Given the description of an element on the screen output the (x, y) to click on. 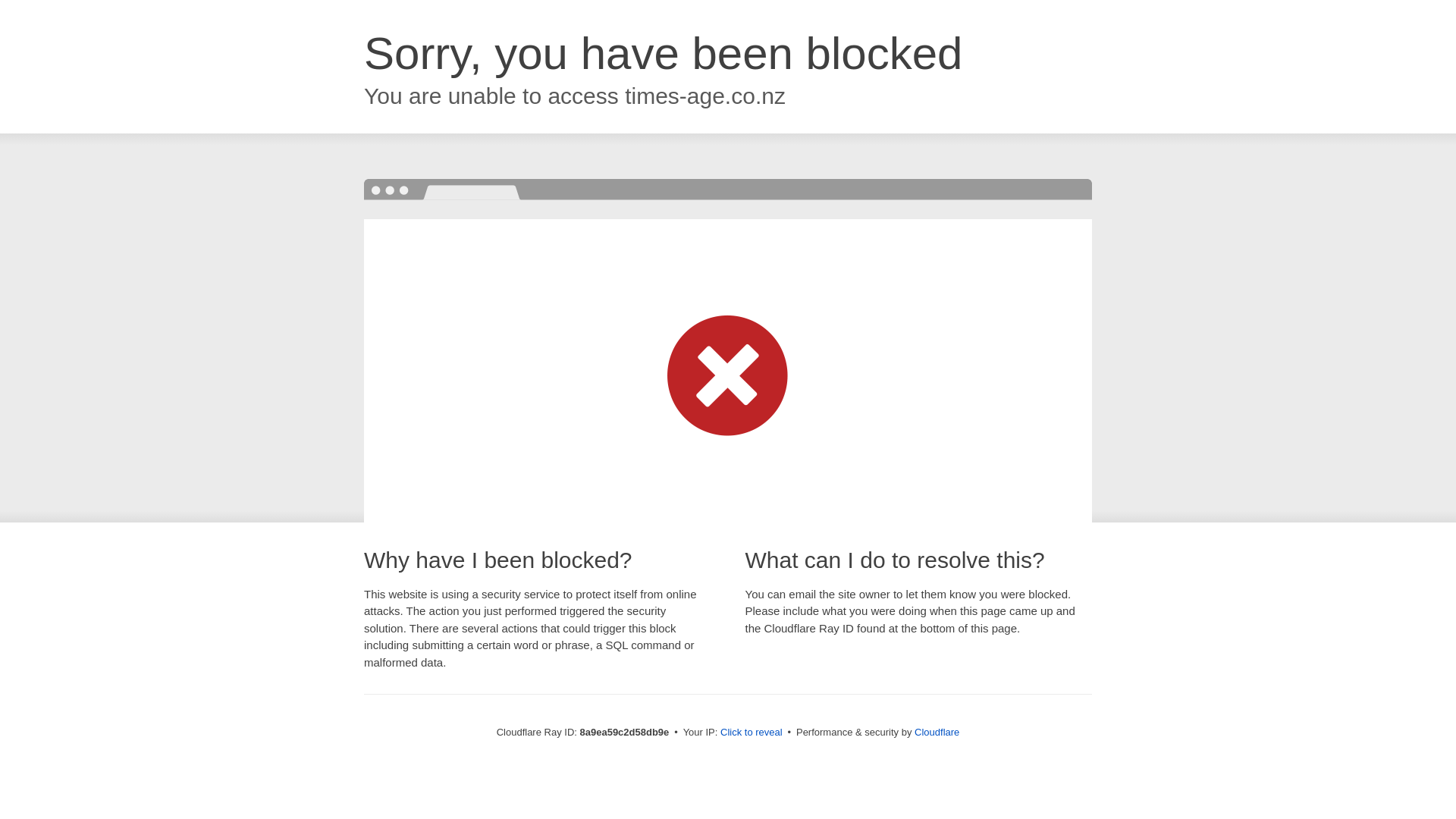
Cloudflare (936, 731)
Click to reveal (751, 732)
